Given the description of an element on the screen output the (x, y) to click on. 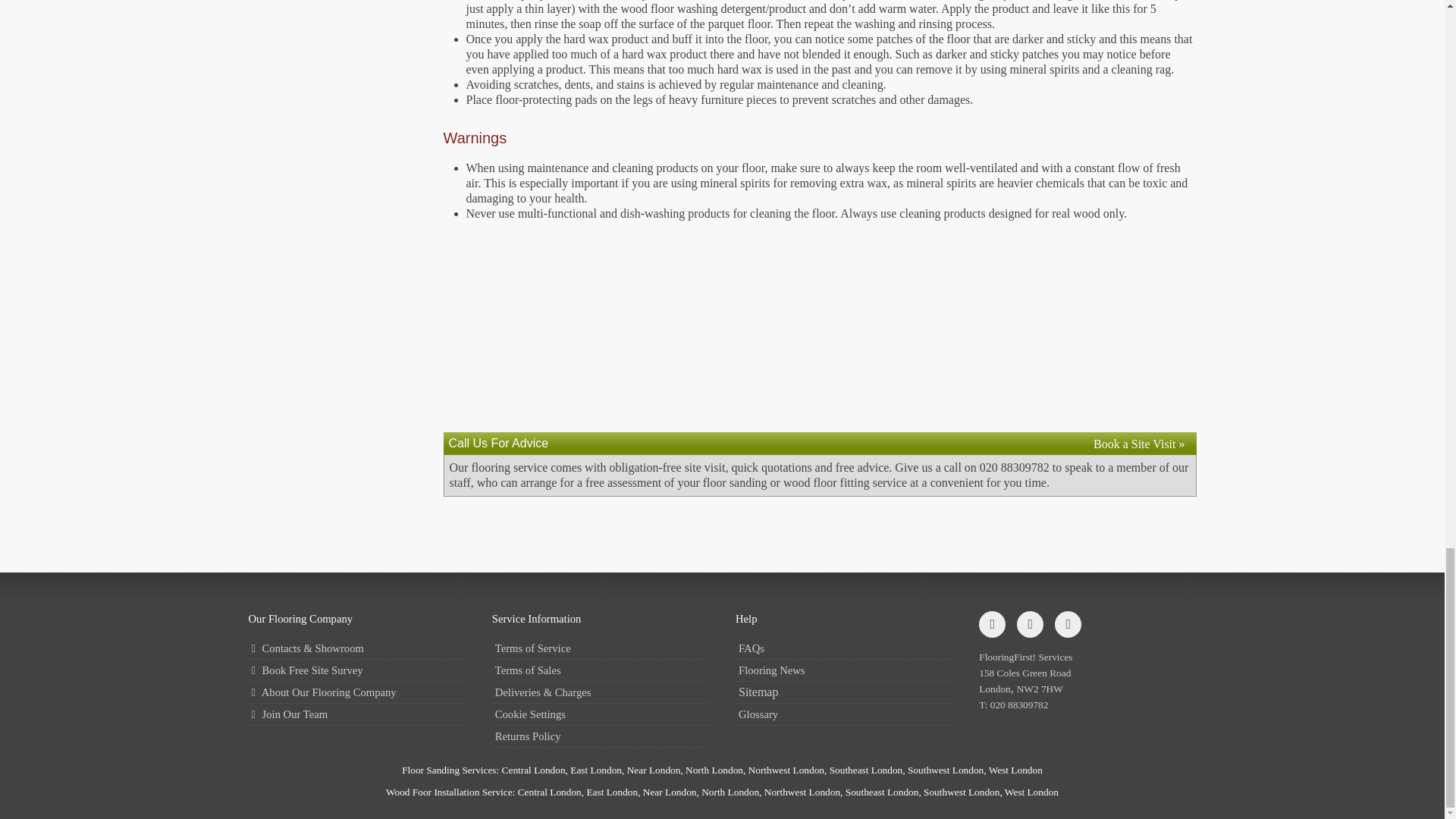
Flooring Delivery (600, 692)
Conditions of Sales (600, 670)
Returns Policy (600, 736)
Book Floor Sanding or Fitting Service (1139, 443)
Conditions of Service (600, 649)
About Our Flooring Services (356, 692)
News (843, 670)
Cookie Settings (600, 714)
Book Free Site Survey (356, 670)
Vacancies in Flooring Company (356, 714)
